Given the description of an element on the screen output the (x, y) to click on. 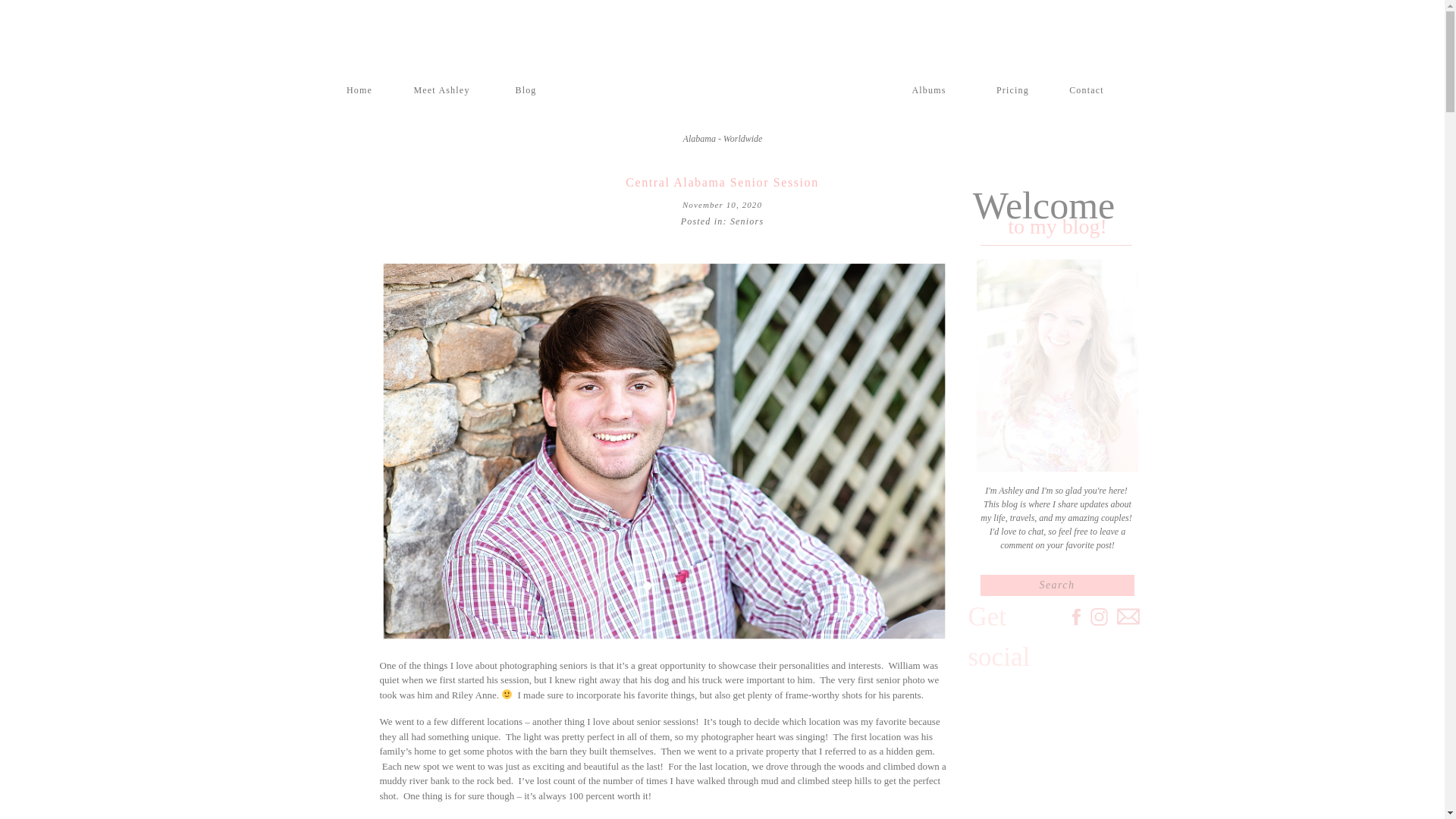
Contact (1086, 87)
Albums (928, 87)
Meet Ashley (441, 87)
Pricing (1013, 87)
Seniors (746, 221)
Blog (525, 87)
Home (358, 87)
